Given the description of an element on the screen output the (x, y) to click on. 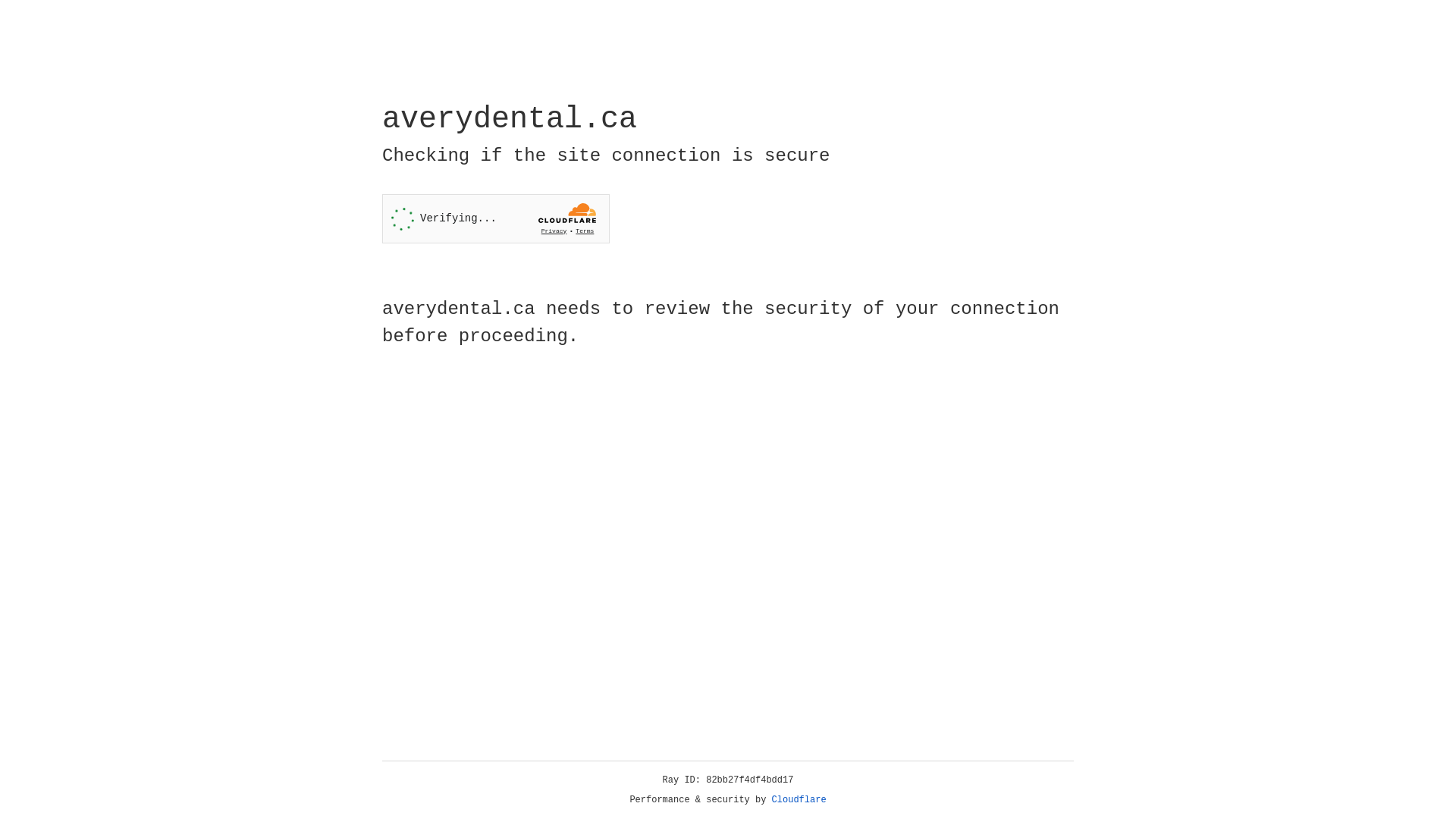
Cloudflare Element type: text (798, 799)
Widget containing a Cloudflare security challenge Element type: hover (495, 218)
